Given the description of an element on the screen output the (x, y) to click on. 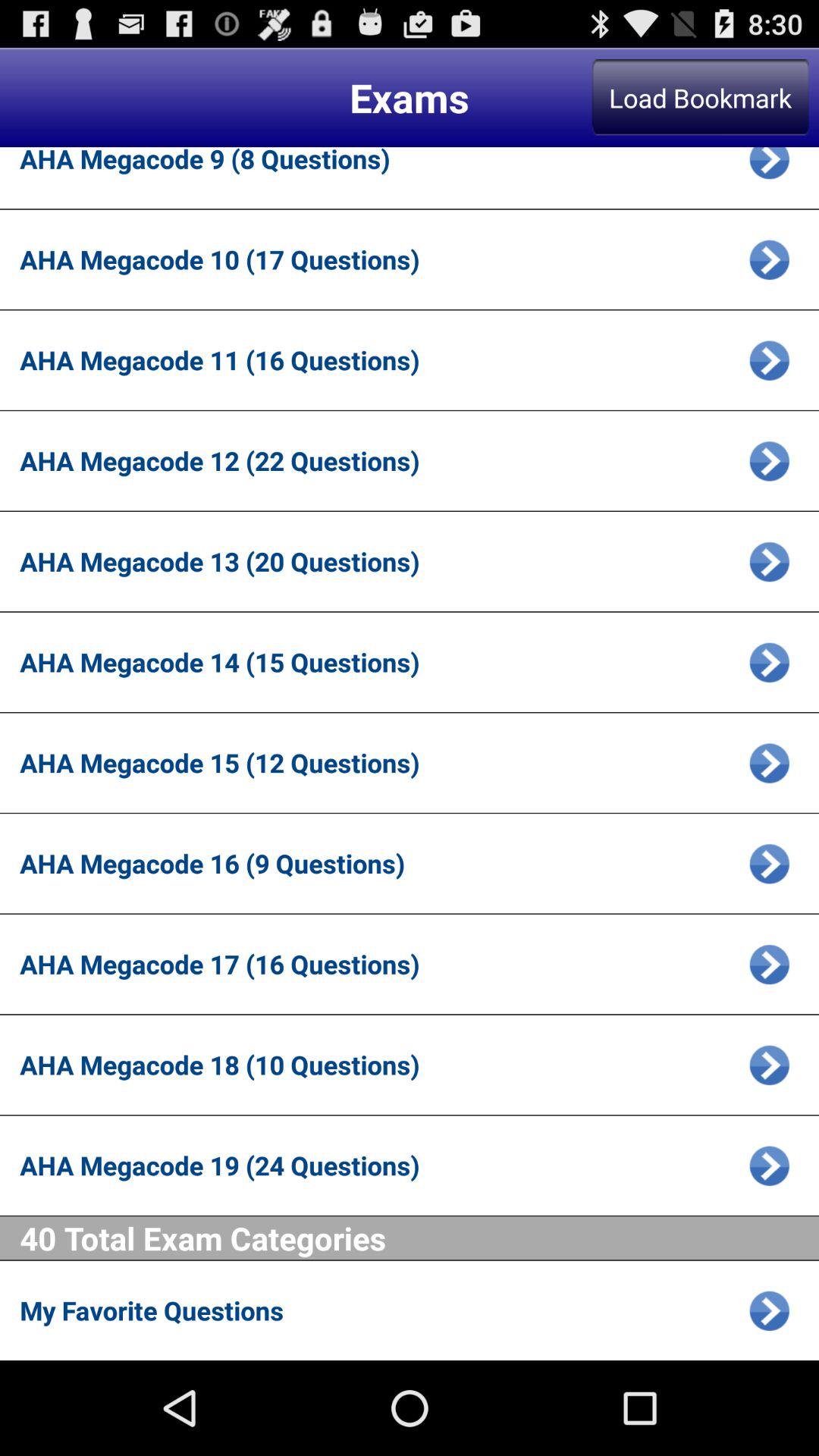
open the app to the right of exams icon (700, 97)
